Given the description of an element on the screen output the (x, y) to click on. 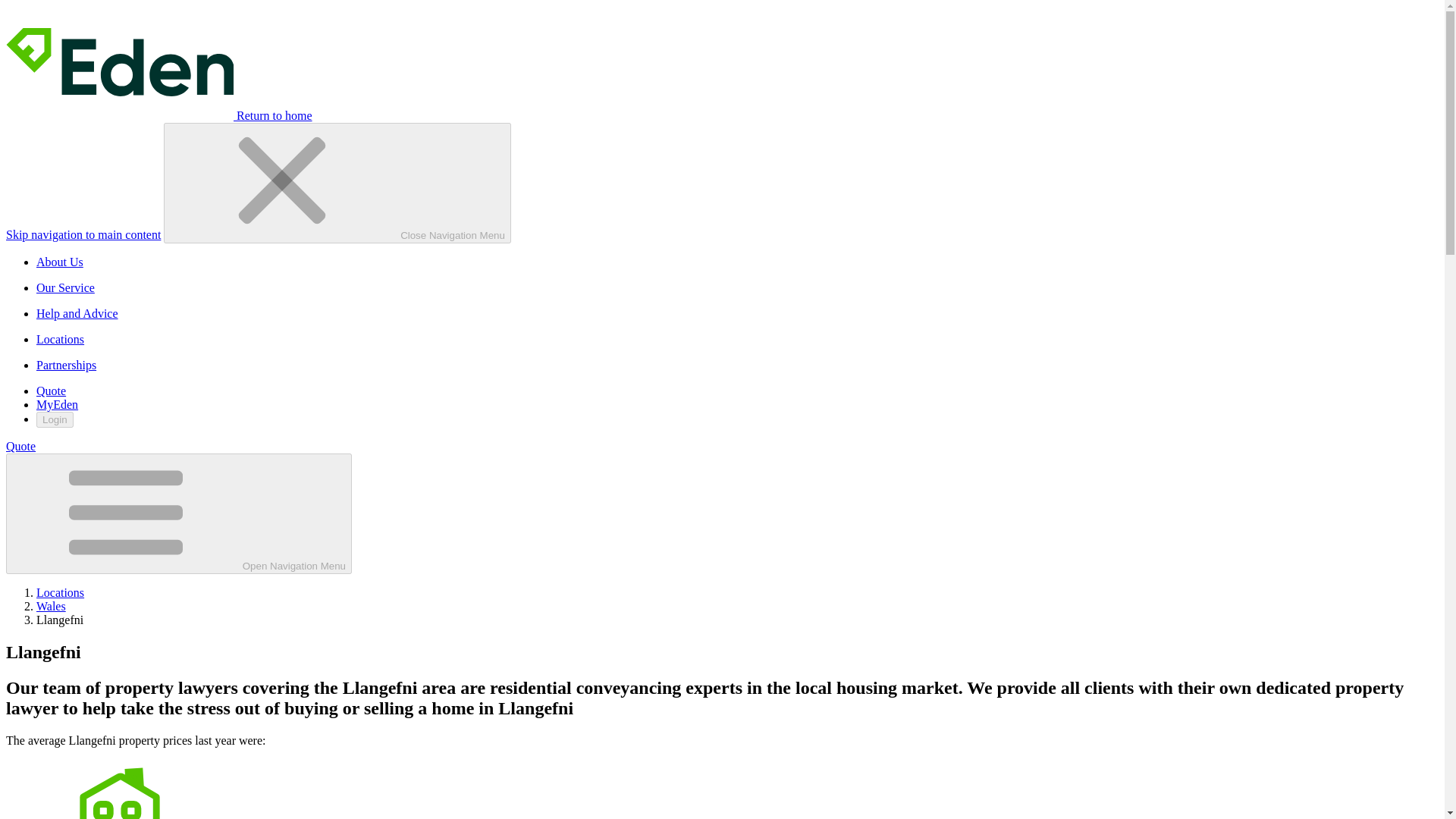
MyEden (57, 404)
Wales (50, 605)
Quote (50, 390)
Quote (19, 445)
Open Navigation Menu (178, 513)
Close Navigation Menu (337, 182)
Skip navigation to main content (82, 234)
Login (55, 419)
Locations (60, 592)
Return to home (159, 115)
